Given the description of an element on the screen output the (x, y) to click on. 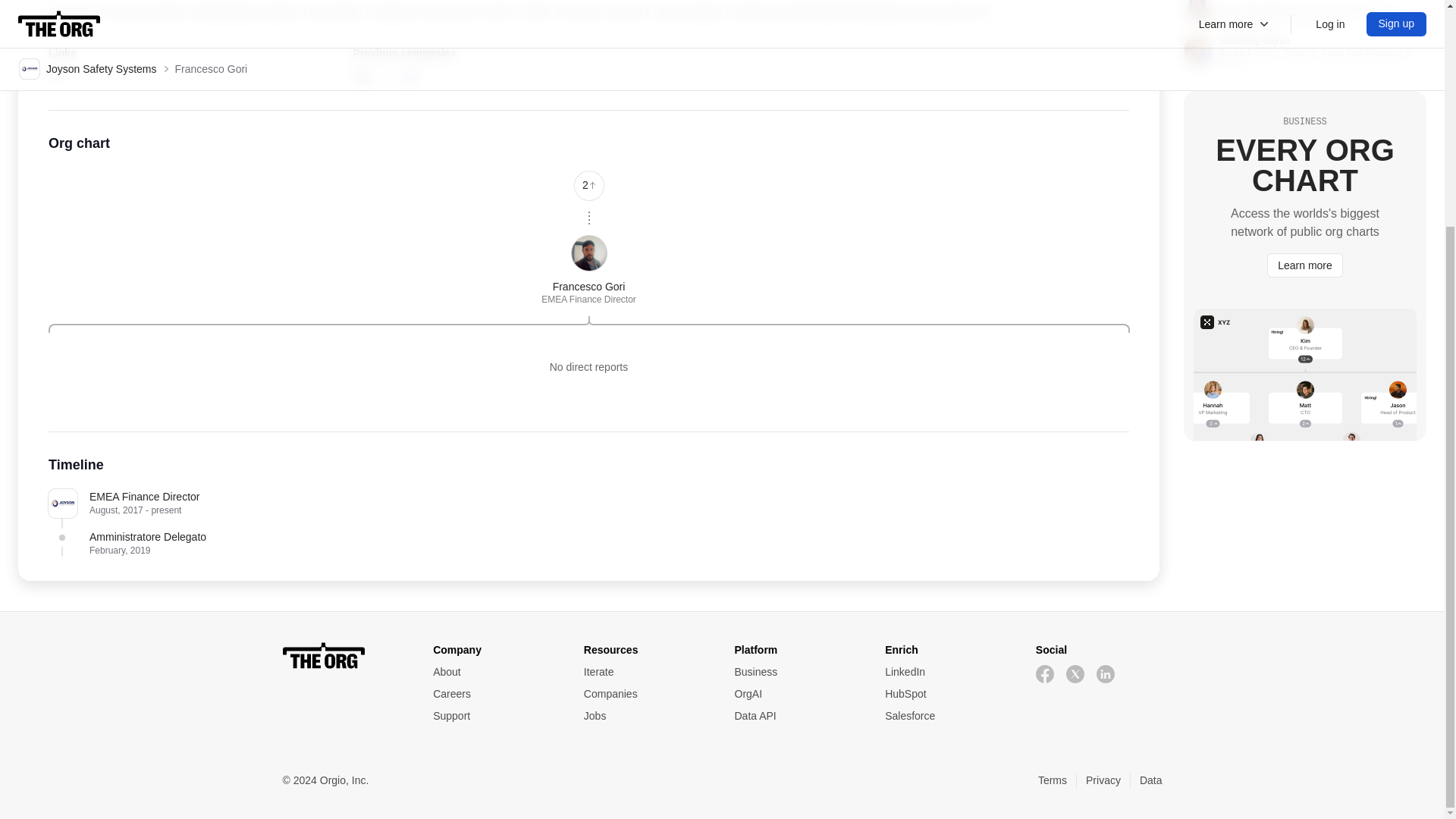
Companies (646, 693)
LinkedIn (948, 672)
Careers (495, 693)
2 (588, 184)
Jobs (646, 715)
Data API (796, 715)
Key Safety Systems (361, 76)
HubSpot (948, 693)
Jobs (646, 715)
Joyson Safety Systems (385, 76)
